Given the description of an element on the screen output the (x, y) to click on. 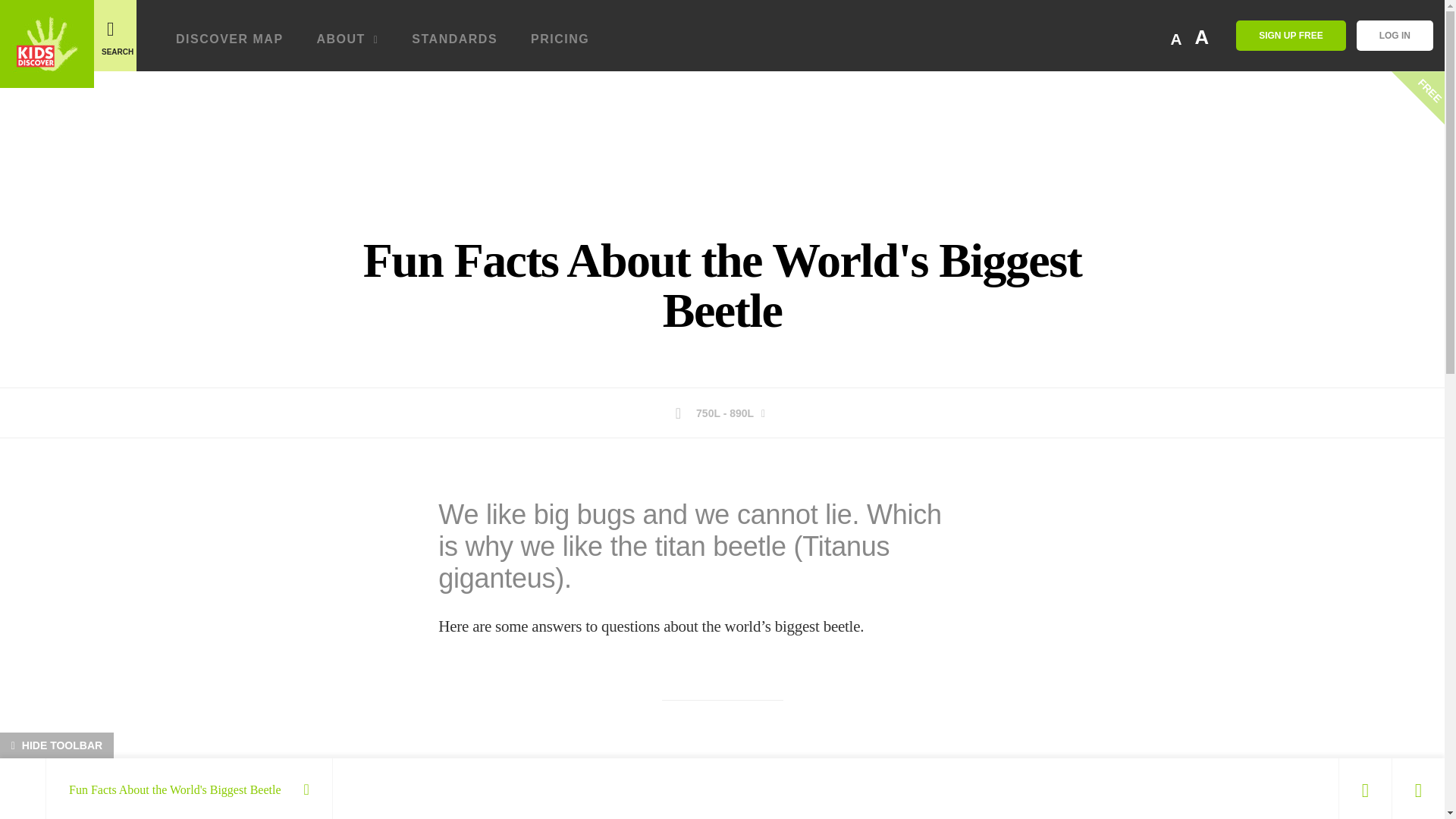
HIDE TOOLBAR (56, 745)
LOG IN (1394, 35)
PRICING (560, 45)
SIGN UP FREE (1290, 35)
STANDARDS (454, 45)
DISCOVER MAP (229, 45)
Fun Facts About the World's Biggest Beetle (188, 780)
Home (47, 43)
